Given the description of an element on the screen output the (x, y) to click on. 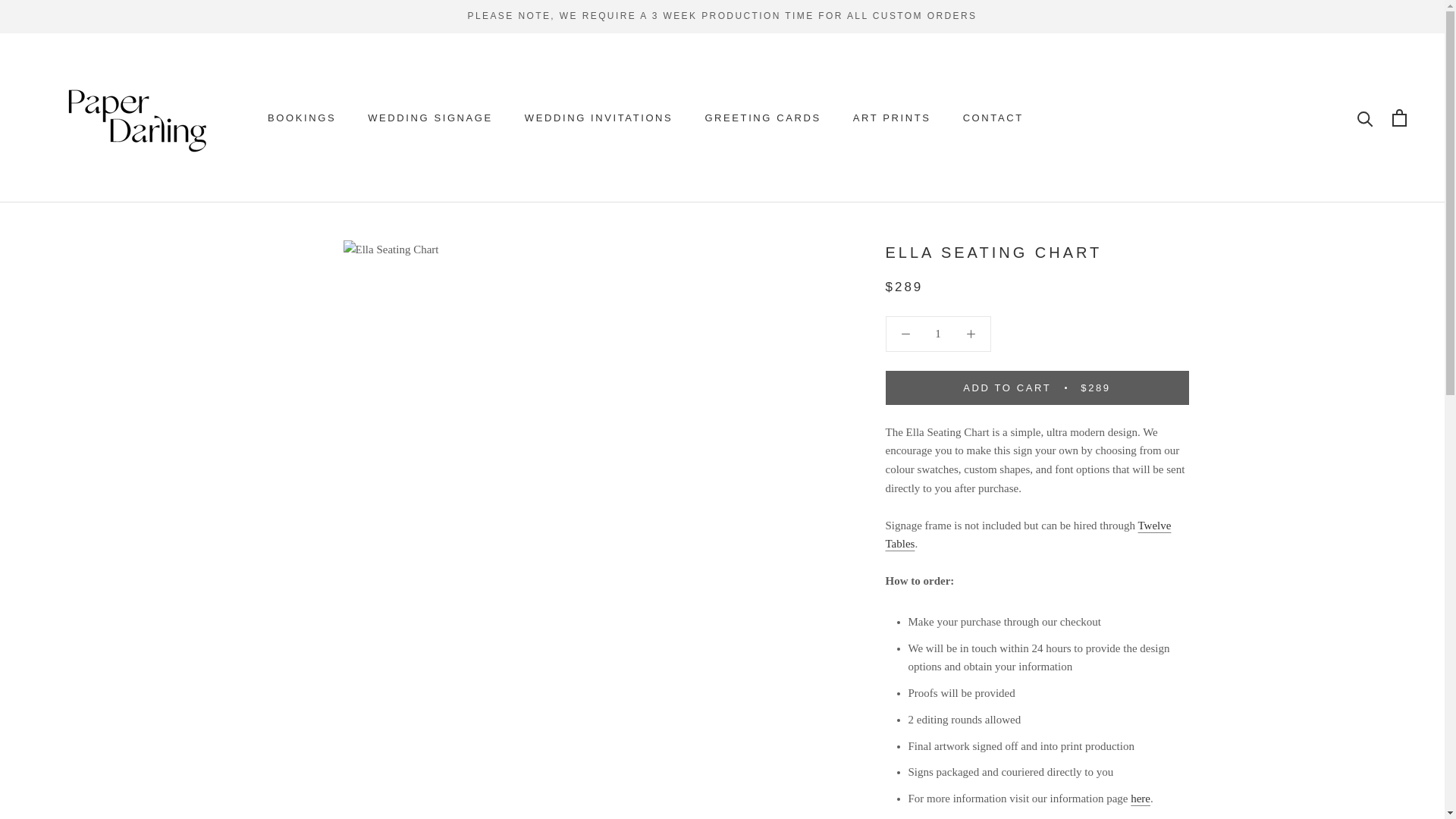
1 (938, 333)
